Given the description of an element on the screen output the (x, y) to click on. 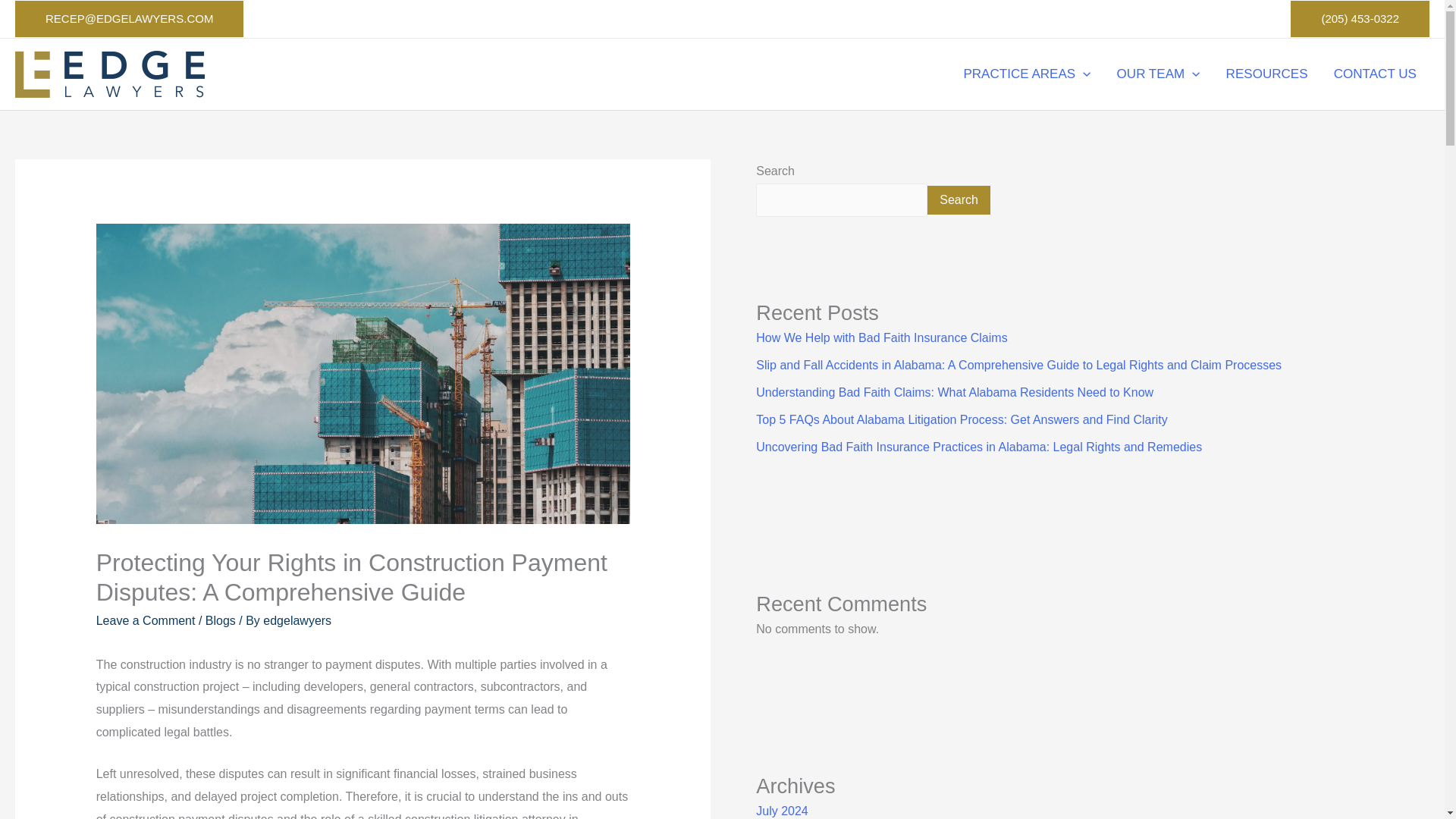
CONTACT US (1374, 73)
PRACTICE AREAS (1026, 73)
OUR TEAM (1157, 73)
View all posts by edgelawyers (297, 620)
RESOURCES (1266, 73)
